Given the description of an element on the screen output the (x, y) to click on. 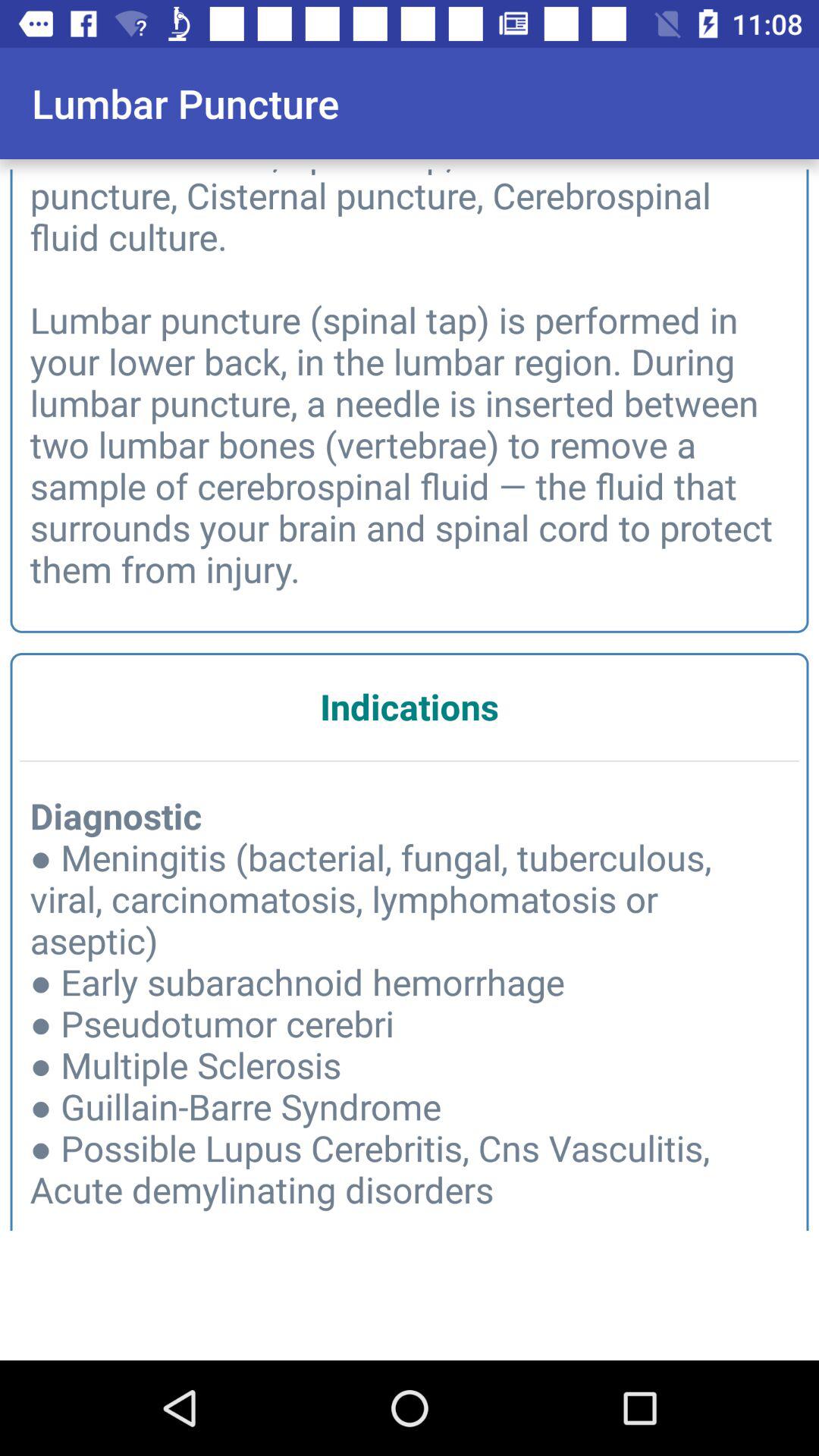
select other names spinal icon (409, 376)
